Given the description of an element on the screen output the (x, y) to click on. 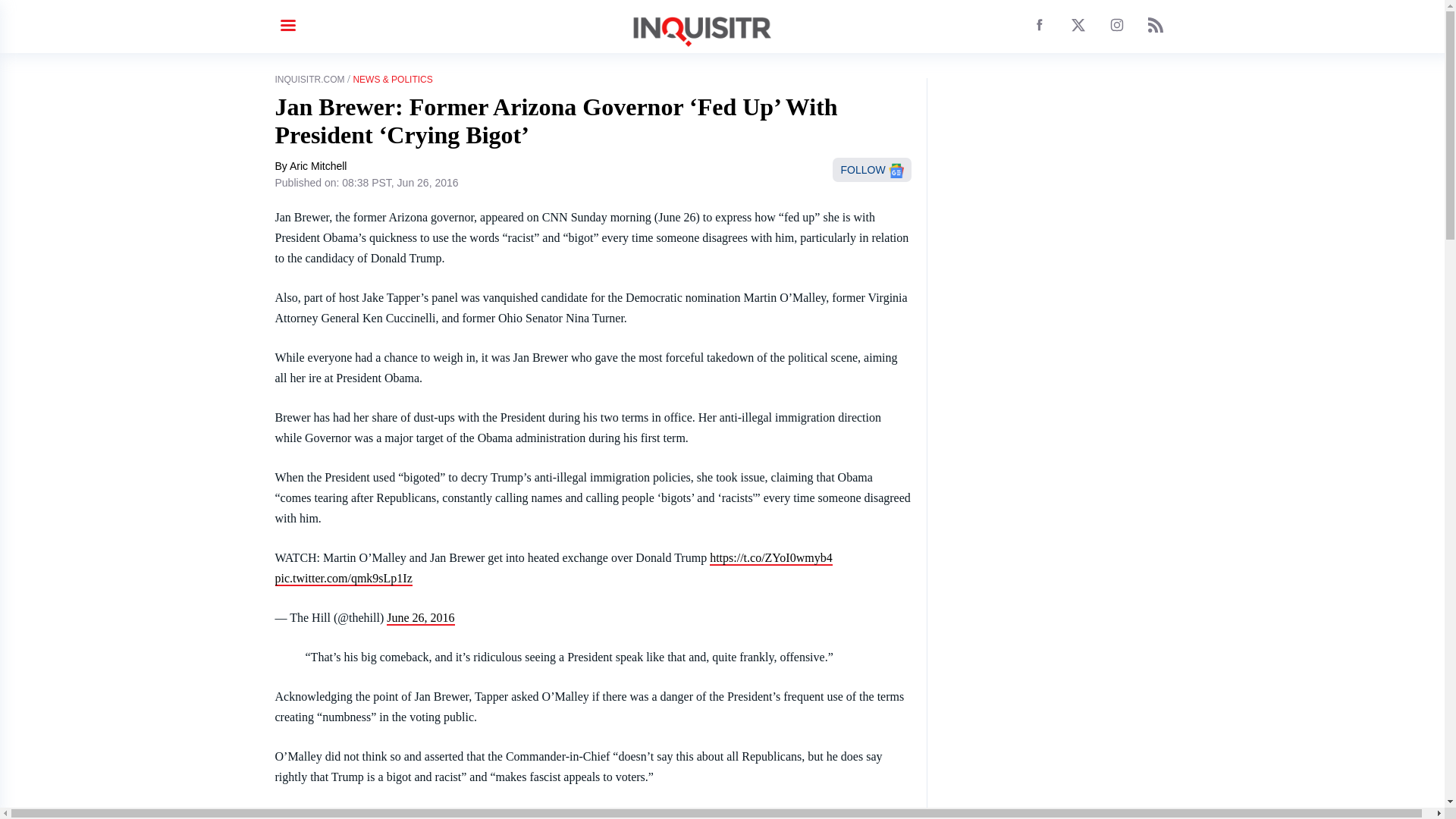
INQUISITR.COM (309, 79)
